Given the description of an element on the screen output the (x, y) to click on. 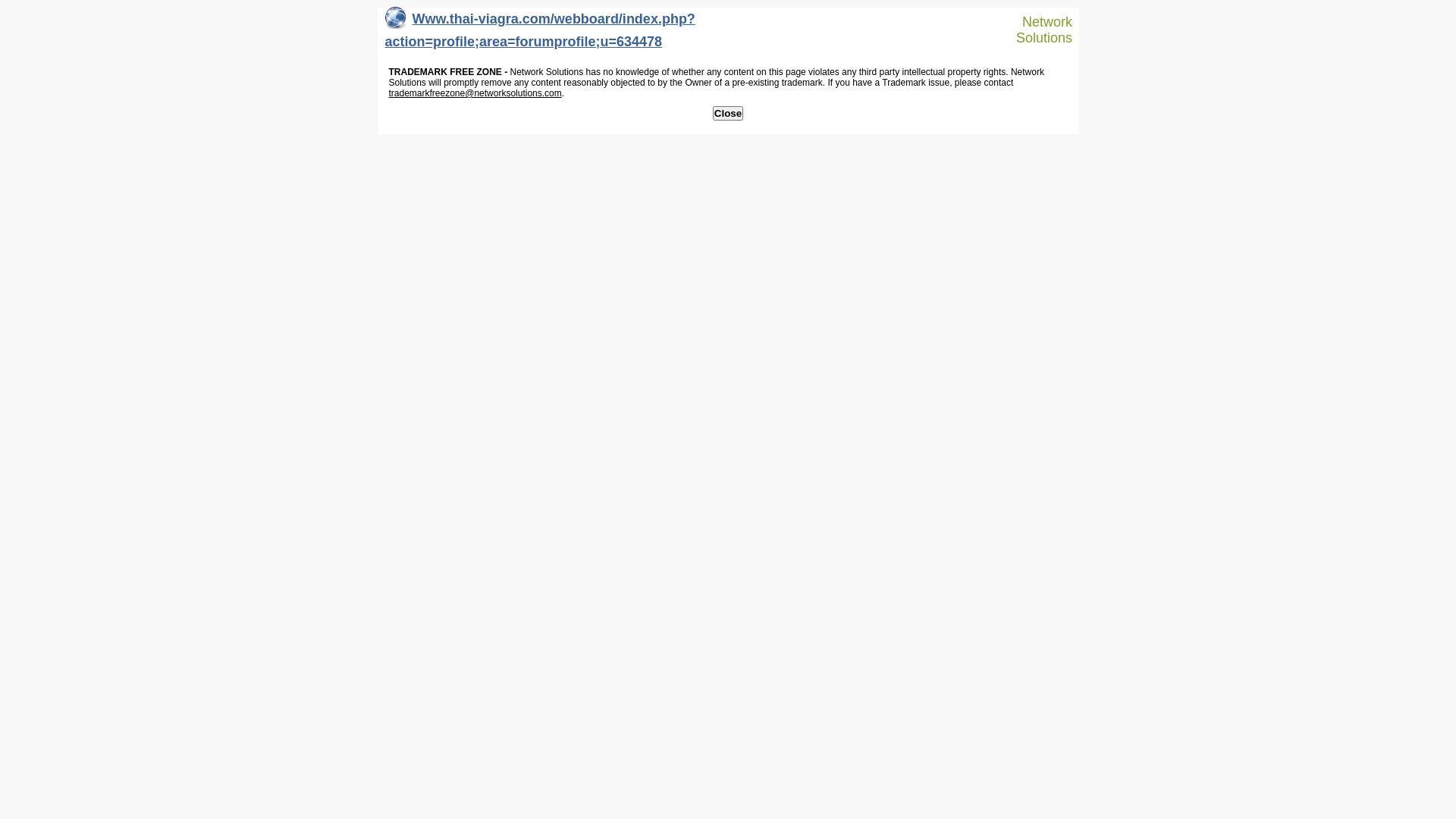
Close Element type: text (727, 113)
trademarkfreezone@networksolutions.com Element type: text (474, 92)
Network Solutions Element type: text (1037, 29)
